Given the description of an element on the screen output the (x, y) to click on. 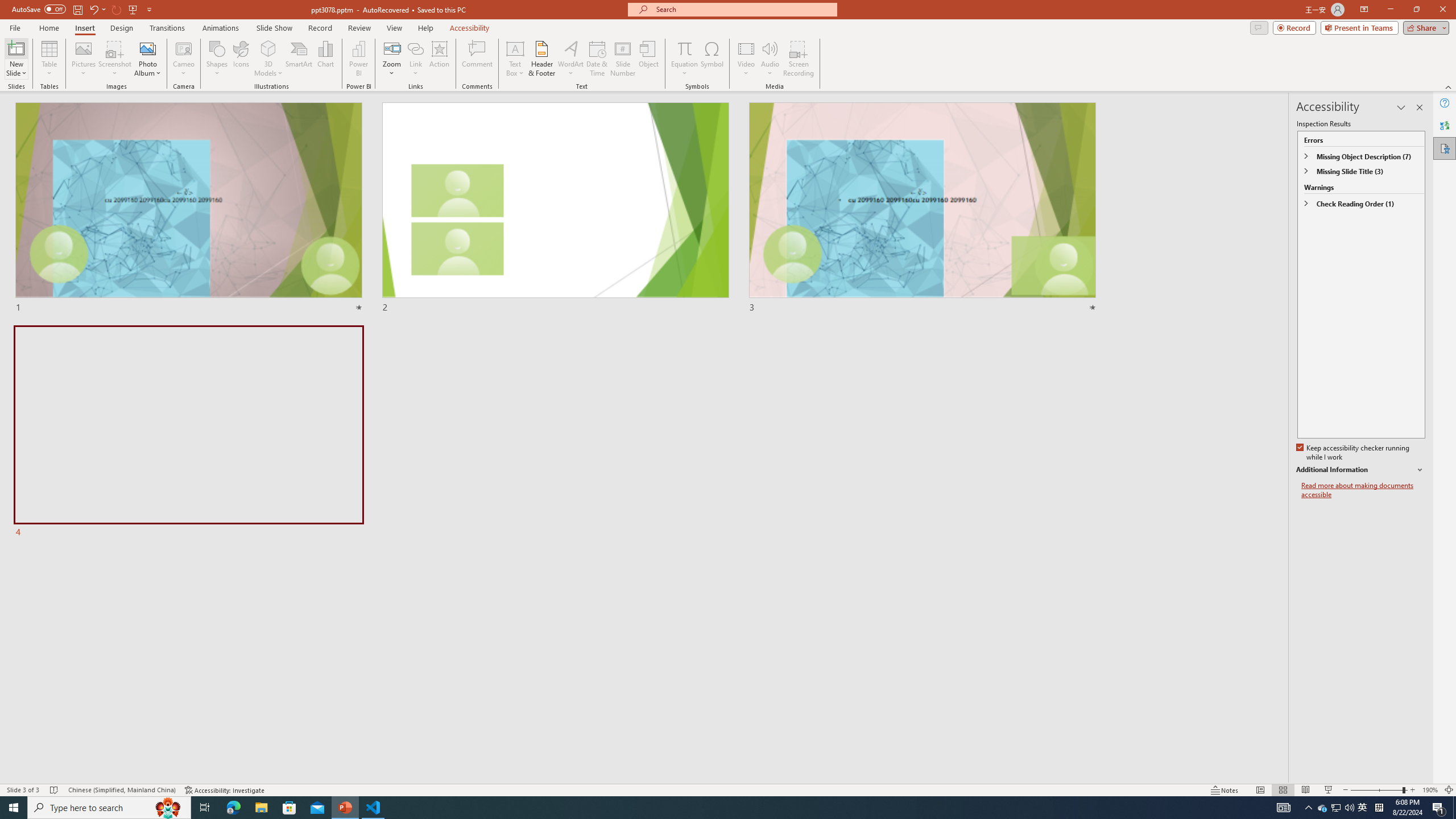
WordArt (570, 58)
Power BI (358, 58)
3D Models (268, 58)
Video (745, 58)
New Photo Album... (147, 48)
SmartArt... (298, 58)
